Given the description of an element on the screen output the (x, y) to click on. 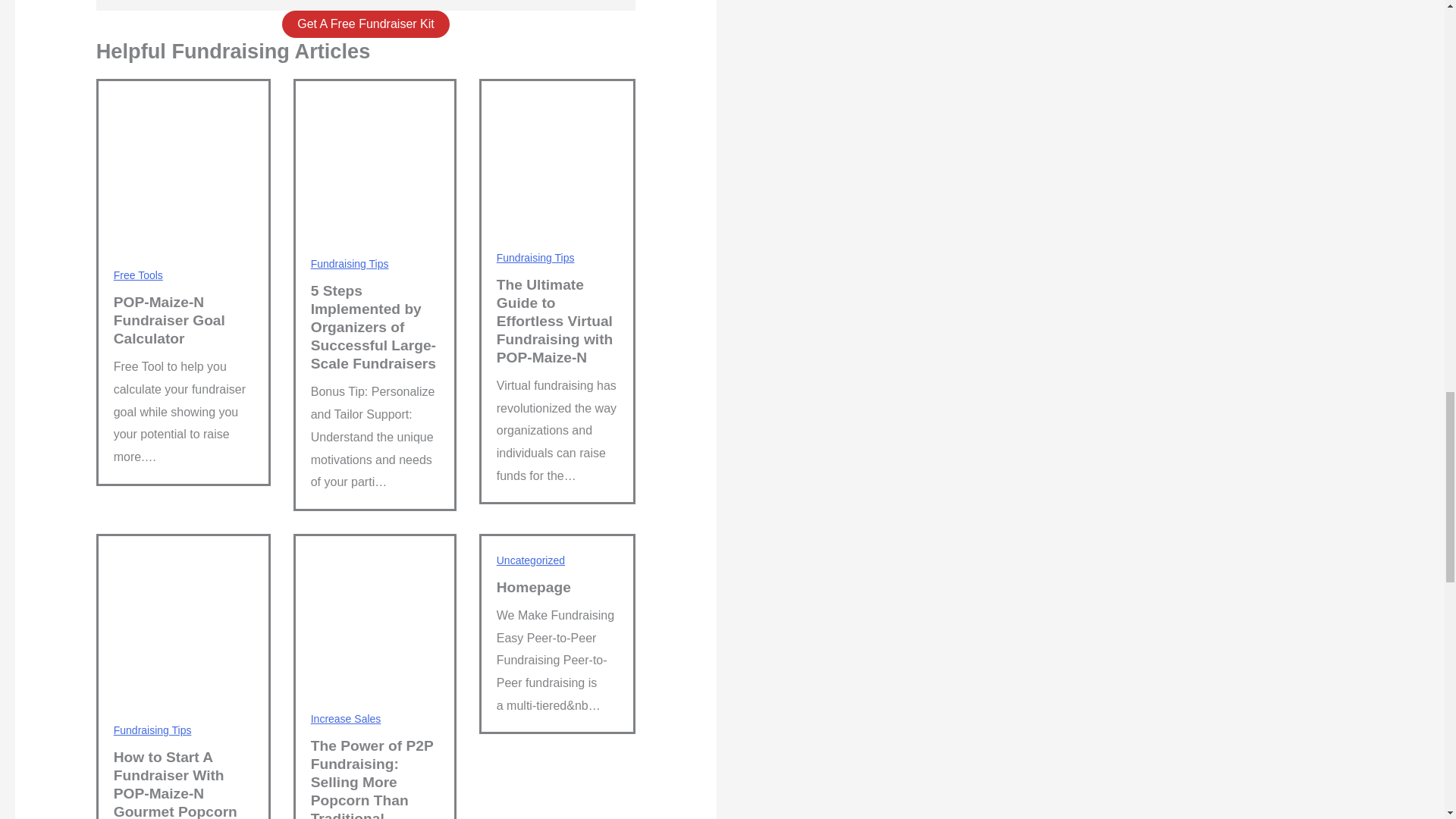
Fundraising Tips (152, 729)
Get A Free Fundraiser Kit (365, 23)
POP-Maize-N Fundraiser Goal Calculator (169, 320)
Homepage (533, 587)
Fundraising Tips (349, 263)
Fundraising Tips (535, 257)
Uncategorized (530, 560)
How to Start A Fundraiser With POP-Maize-N Gourmet Popcorn (175, 784)
Increase Sales (346, 718)
Free Tools (138, 275)
